Given the description of an element on the screen output the (x, y) to click on. 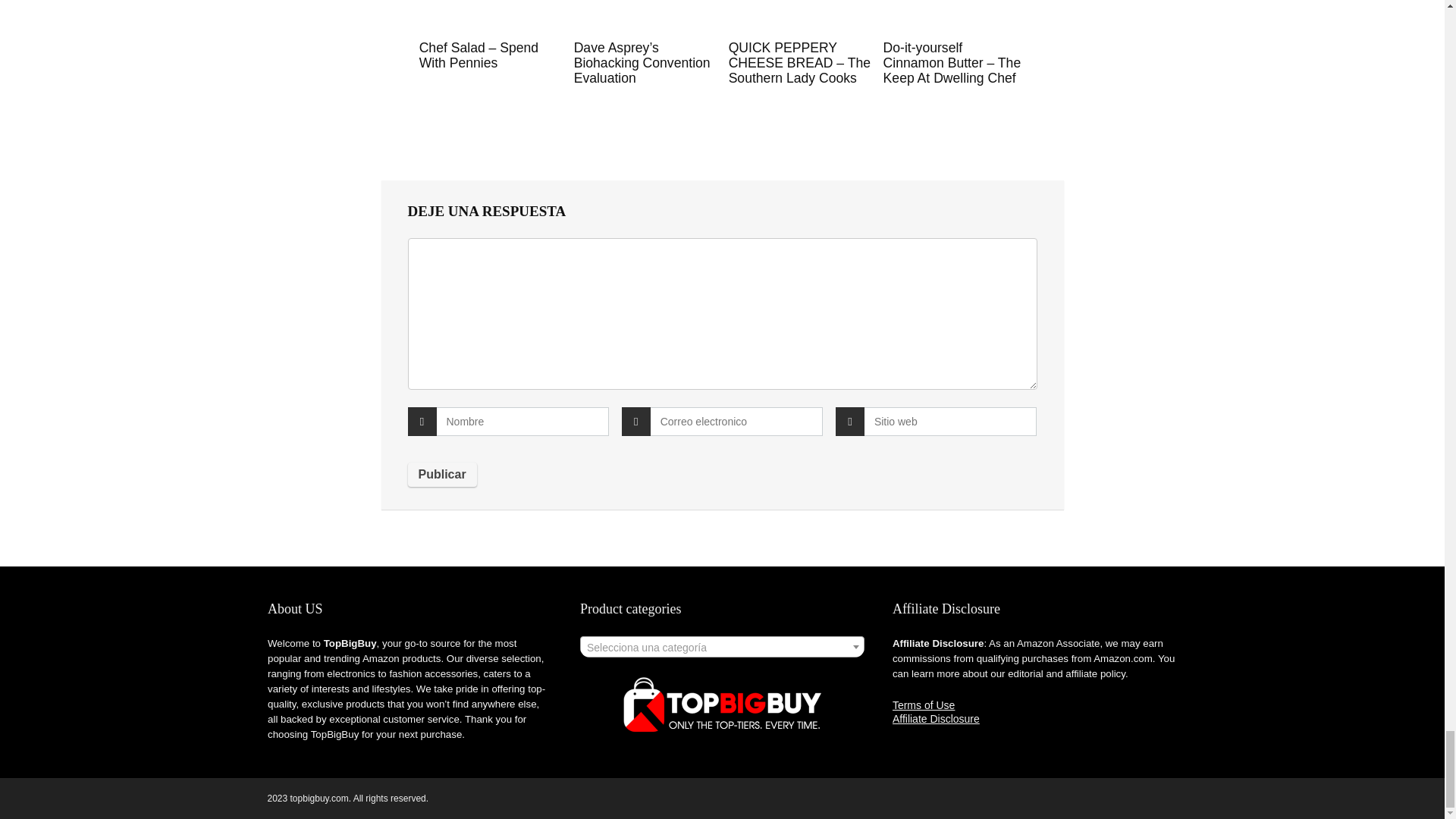
Publicar (442, 474)
